Given the description of an element on the screen output the (x, y) to click on. 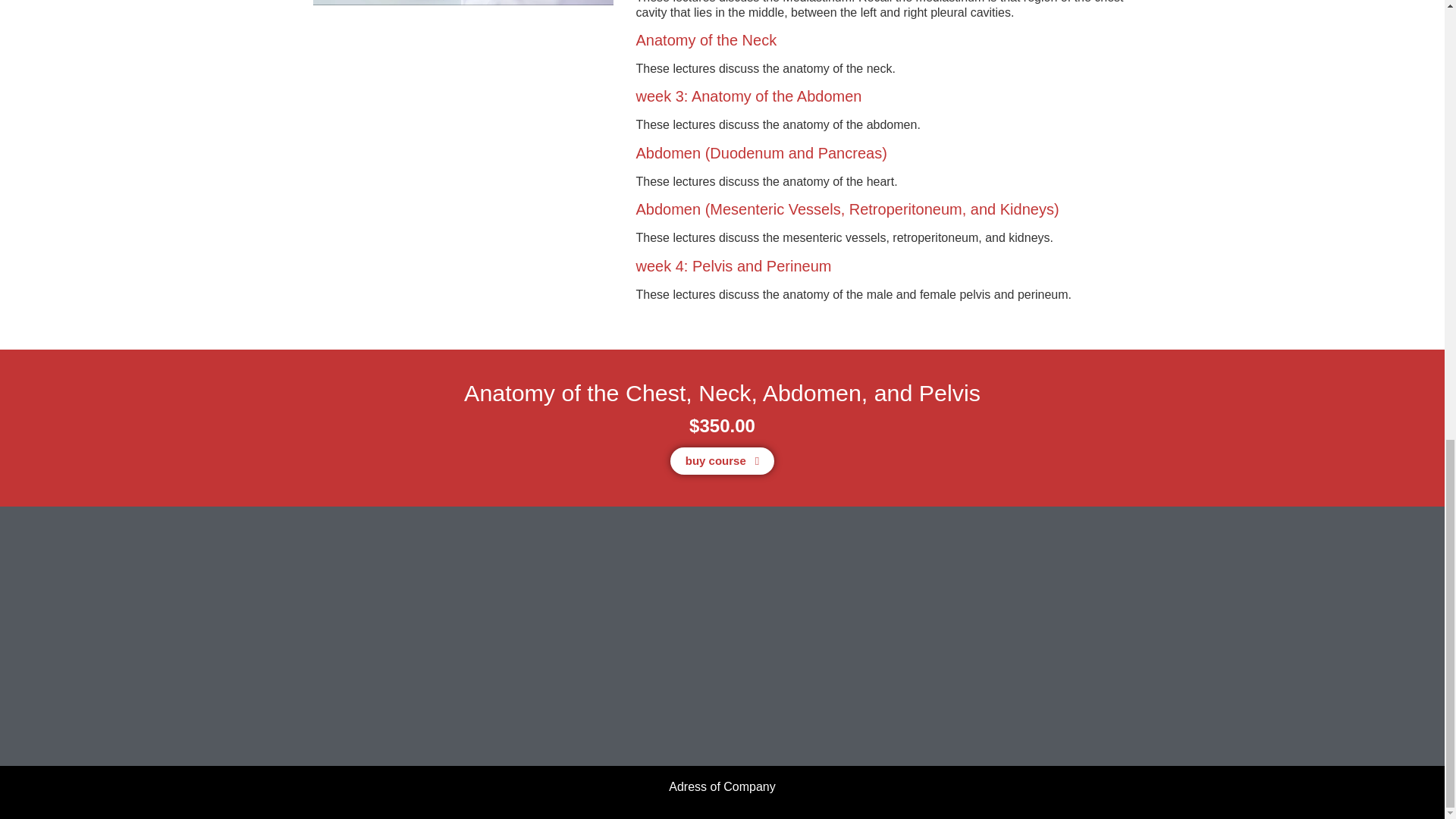
buy course (721, 461)
course12 (462, 2)
